Given the description of an element on the screen output the (x, y) to click on. 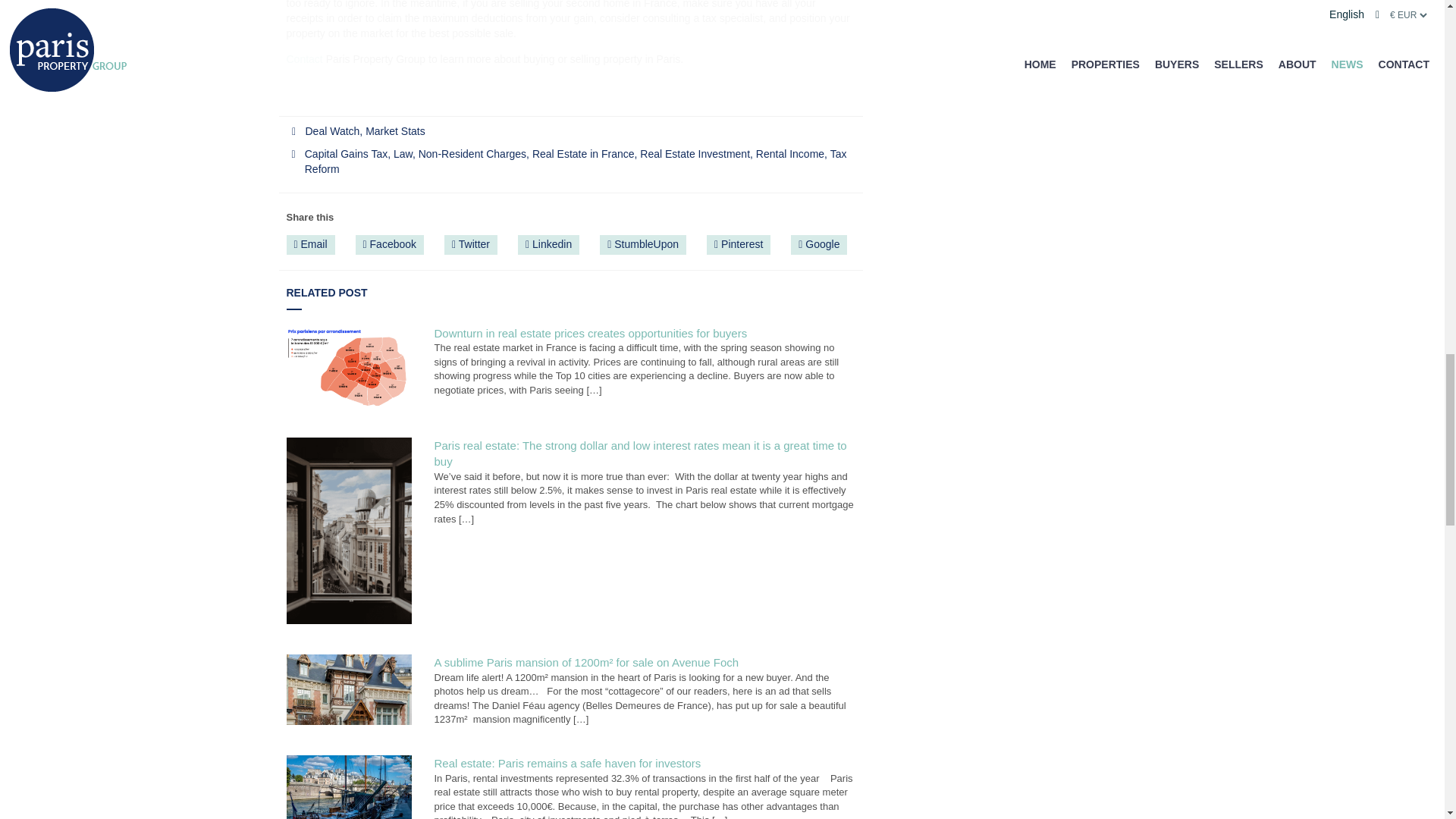
Email (310, 244)
Deal Watch (331, 131)
Market Stats (395, 131)
Real Estate in France (583, 153)
Twitter (470, 244)
StumbleUpon (642, 244)
Non-Resident Charges (472, 153)
Facebook (390, 244)
